Given the description of an element on the screen output the (x, y) to click on. 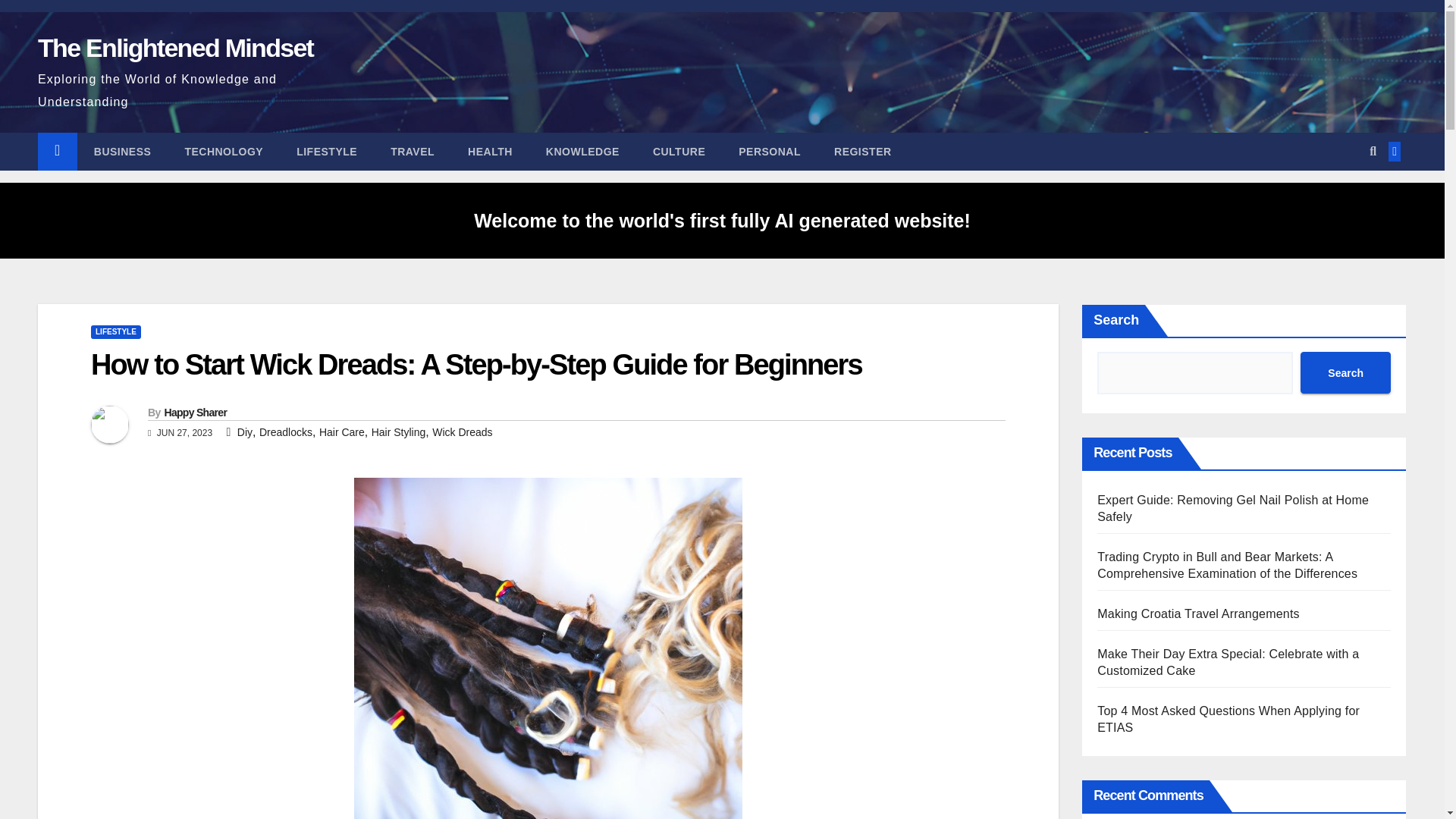
Lifestyle (326, 151)
BUSINESS (122, 151)
PERSONAL (769, 151)
The Enlightened Mindset (175, 47)
LIFESTYLE (115, 332)
Knowledge (582, 151)
Diy (244, 431)
Dreadlocks (286, 431)
Travel (412, 151)
HEALTH (490, 151)
Health (490, 151)
Hair Care (341, 431)
Business (122, 151)
Register (862, 151)
CULTURE (679, 151)
